Given the description of an element on the screen output the (x, y) to click on. 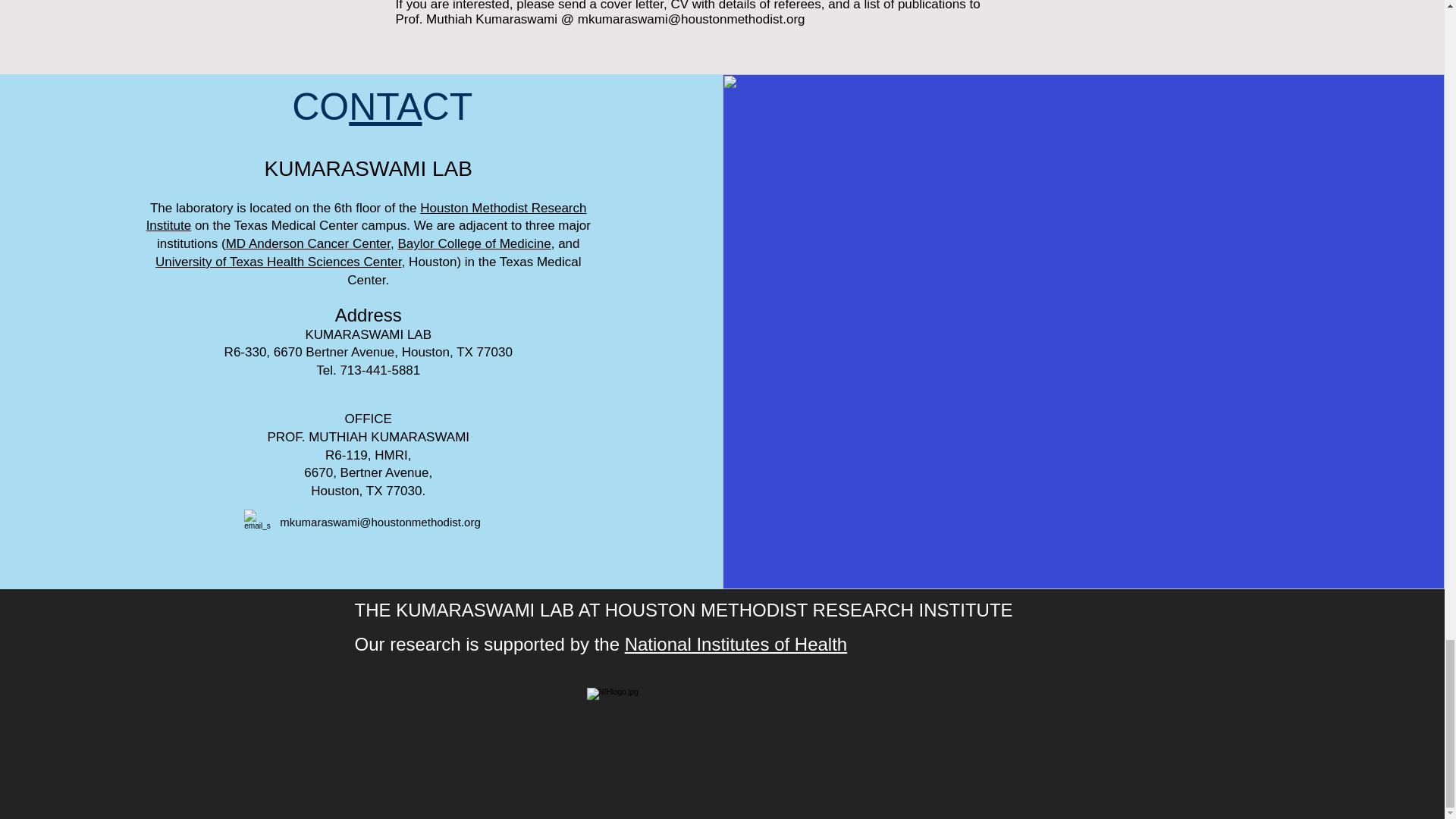
National Institutes of Health (735, 643)
Baylor College of Medicine (473, 243)
Houston Methodist Research Institute (366, 216)
University of Texas Health Sciences Center (278, 261)
MD Anderson Cancer Center (307, 243)
